Given the description of an element on the screen output the (x, y) to click on. 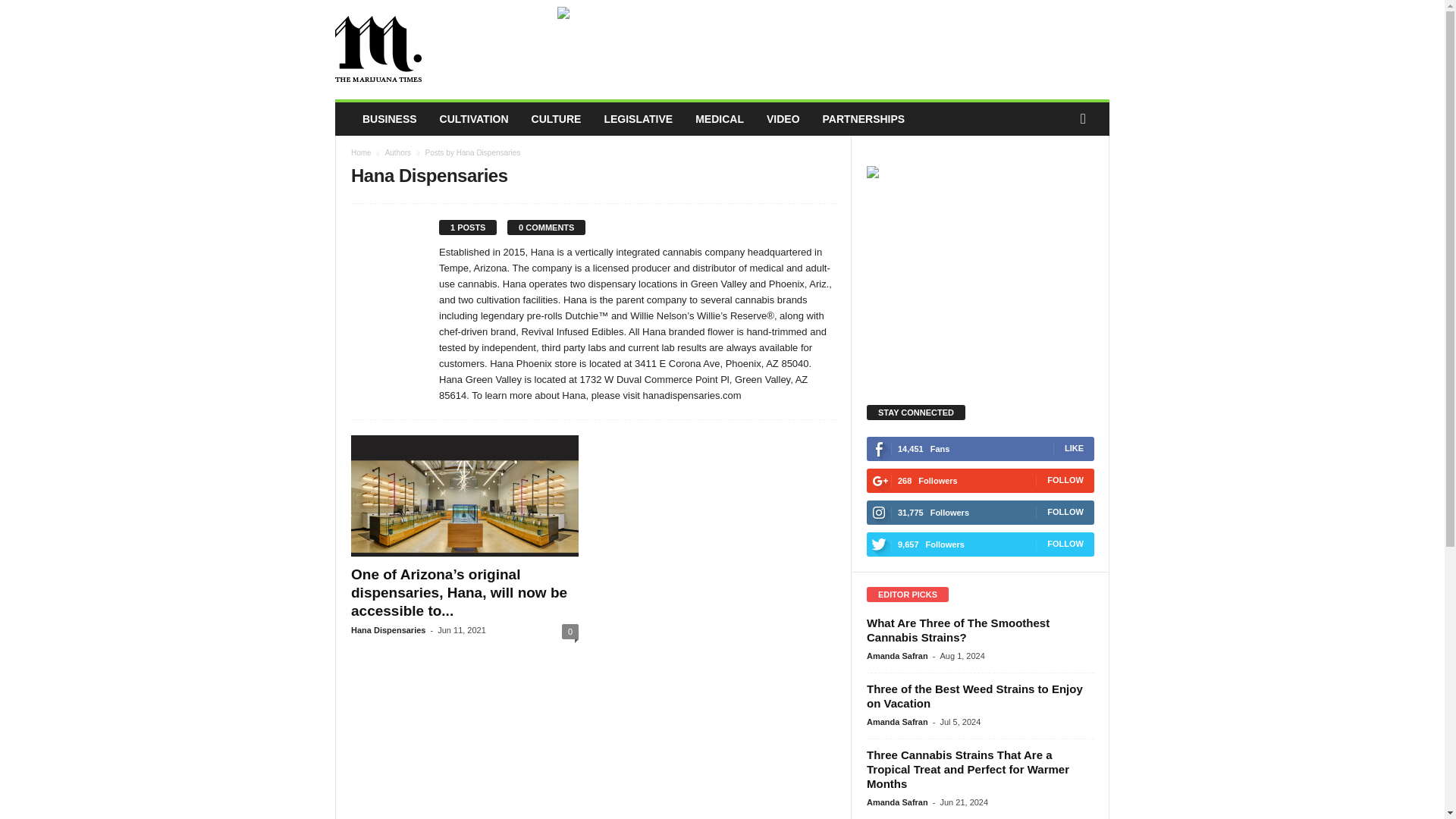
PARTNERSHIPS (863, 118)
Amanda Safran (897, 721)
MEDICAL (719, 118)
BUSINESS (389, 118)
LEGISLATIVE (638, 118)
0 (570, 631)
CULTURE (555, 118)
What Are Three of The Smoothest Cannabis Strains? (957, 629)
VIDEO (782, 118)
